Given the description of an element on the screen output the (x, y) to click on. 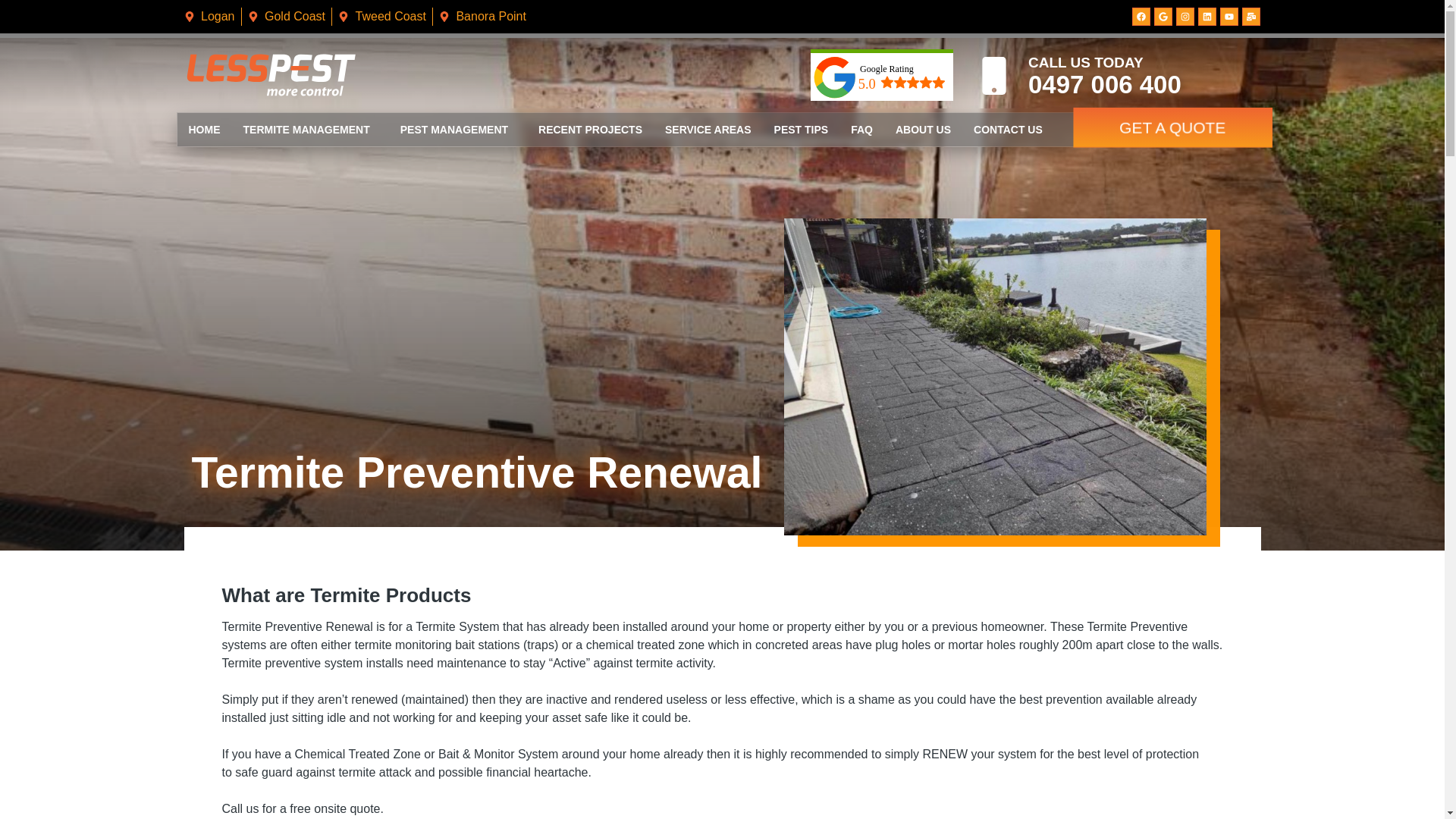
PEST MANAGEMENT Element type: text (458, 129)
SERVICE AREAS Element type: text (707, 129)
0497 006 400 Element type: text (1104, 84)
HOME Element type: text (204, 129)
CALL US TODAY Element type: text (1085, 62)
GET A QUOTE Element type: text (1171, 127)
PEST TIPS Element type: text (801, 129)
FAQ Element type: text (861, 129)
TERMITE MANAGEMENT Element type: text (310, 129)
ABOUT US Element type: text (923, 129)
RECENT PROJECTS Element type: text (590, 129)
CONTACT US Element type: text (1008, 129)
